Given the description of an element on the screen output the (x, y) to click on. 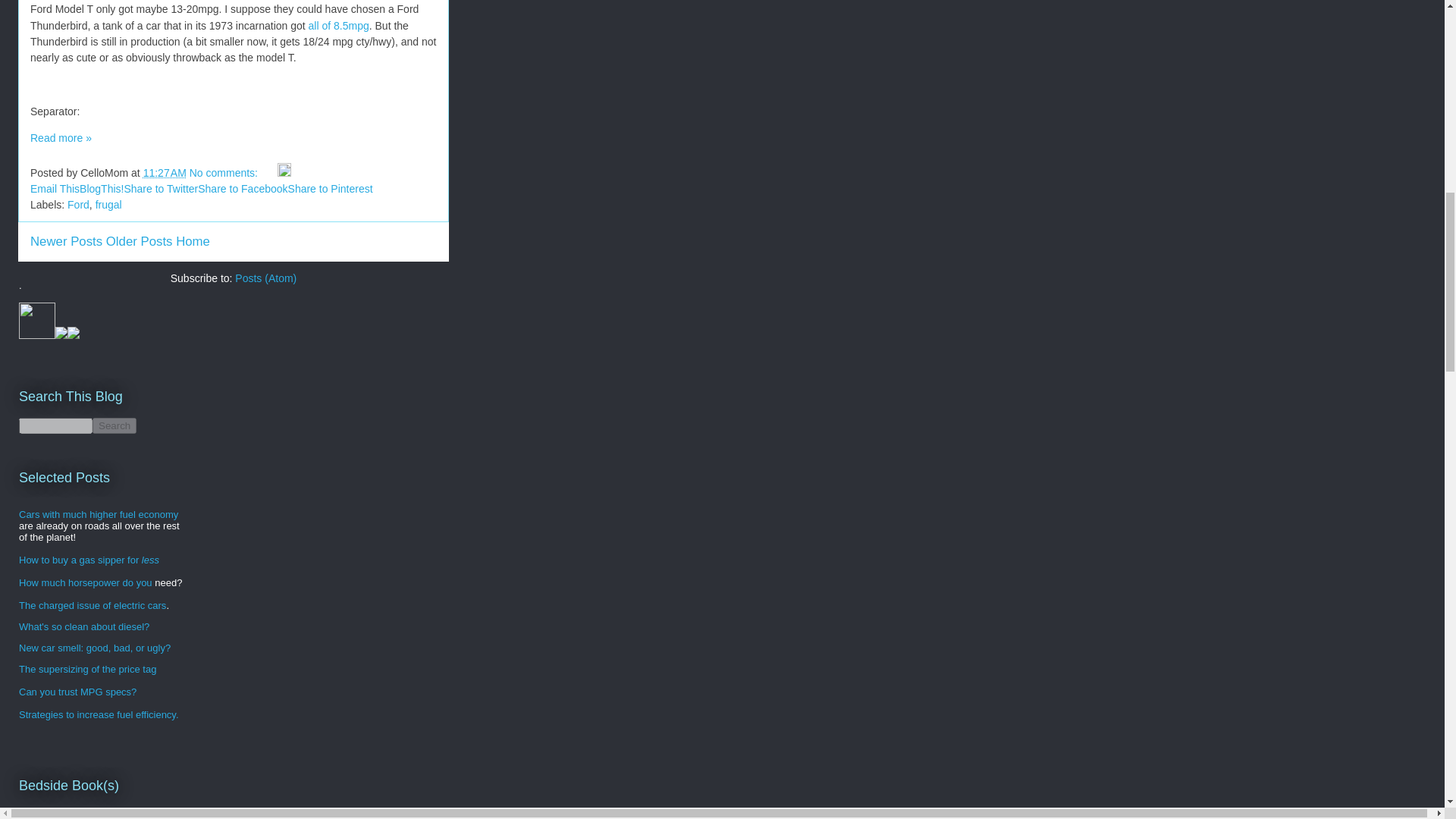
BlogThis! (101, 188)
Search (114, 425)
Search (114, 425)
Cars with much higher fuel economy (97, 514)
Home (192, 241)
Email This (55, 188)
Email Post (269, 173)
The charged issue of electric cars (91, 604)
Search (114, 425)
No comments: (224, 173)
Share to Facebook (242, 188)
search (55, 425)
The supersizing of the price tag (86, 668)
Older Posts (139, 241)
